Given the description of an element on the screen output the (x, y) to click on. 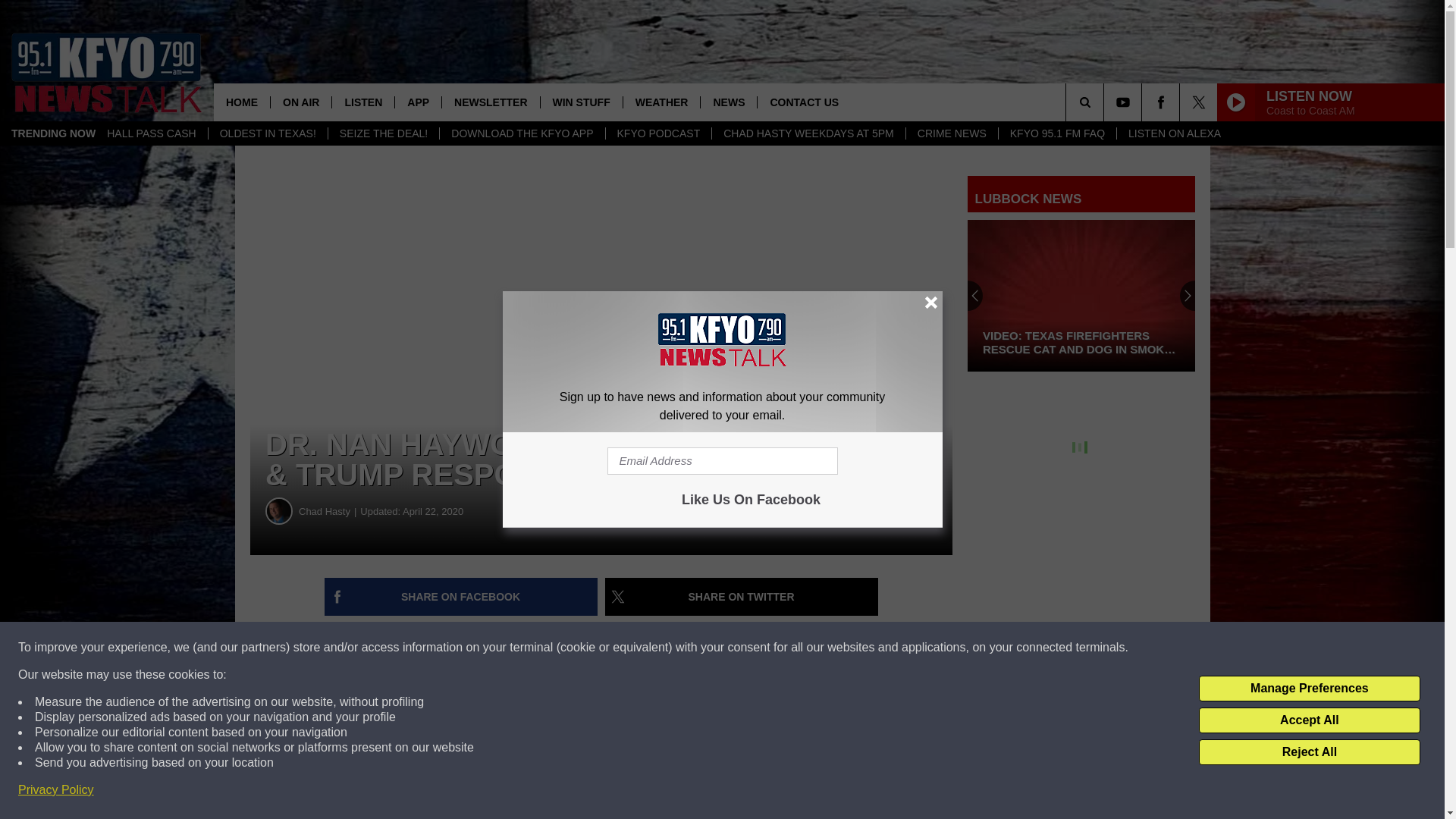
KFYO PODCAST (658, 133)
WIN STUFF (581, 102)
DOWNLOAD THE KFYO APP (521, 133)
HALL PASS CASH (152, 133)
SEIZE THE DEAL! (383, 133)
Share on Facebook (460, 596)
CRIME NEWS (951, 133)
SEARCH (1106, 102)
Share on Twitter (741, 596)
NEWSLETTER (489, 102)
ON AIR (300, 102)
Manage Preferences (1309, 688)
HOME (241, 102)
Accept All (1309, 720)
APP (417, 102)
